Given the description of an element on the screen output the (x, y) to click on. 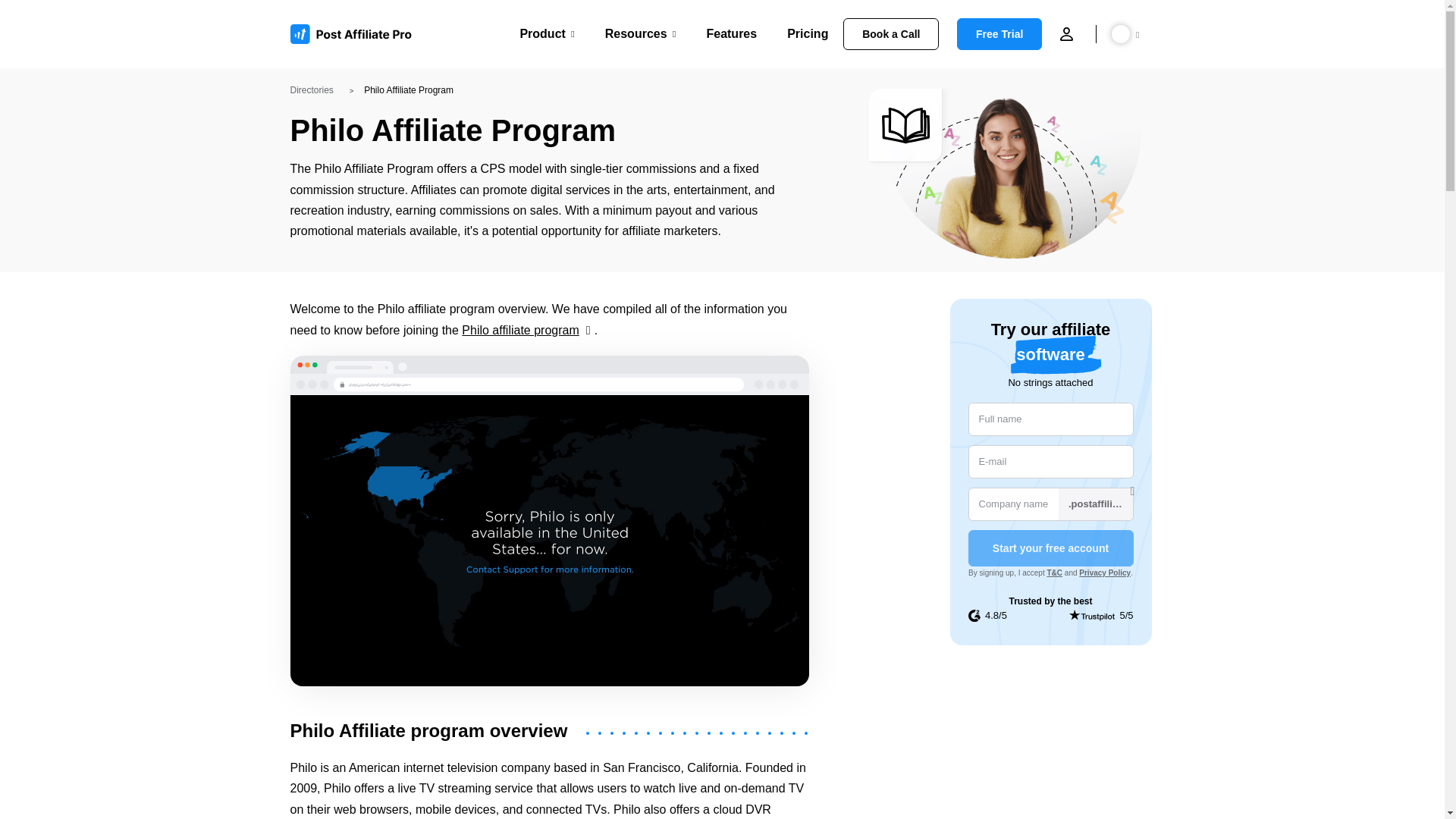
Features (731, 33)
Pricing (807, 33)
PostAffiliatePro affiliate software (355, 34)
Product (546, 33)
Resources (641, 33)
